Given the description of an element on the screen output the (x, y) to click on. 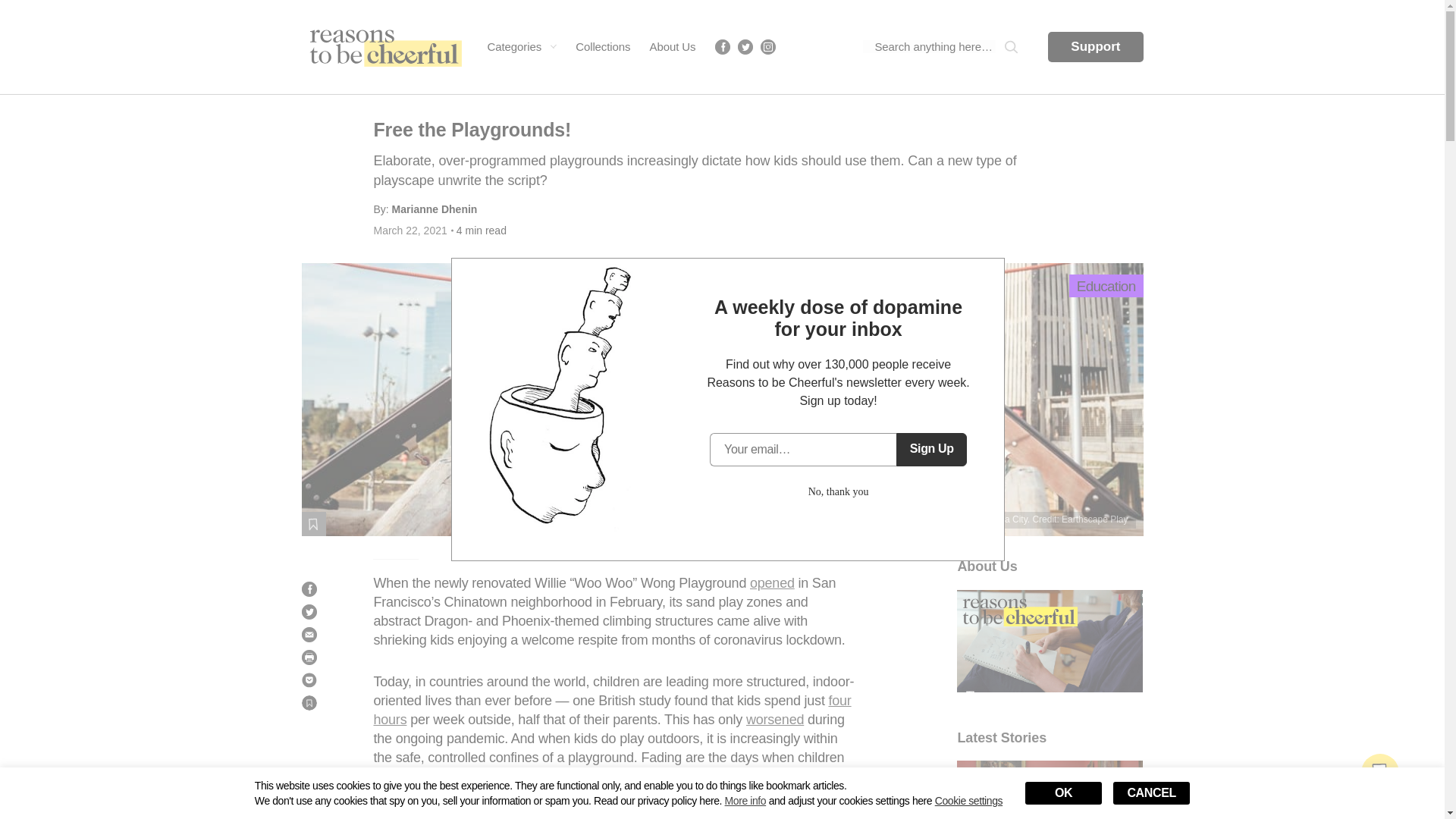
Posts by Marianne Dhenin (434, 209)
Sign Up (931, 449)
Share with twitter link (309, 611)
Collections (602, 46)
worsened (774, 719)
Marianne Dhenin (434, 209)
opened (771, 582)
About Us (672, 46)
four hours (611, 709)
Share with facebook link (309, 589)
Education (1105, 285)
Categories (521, 46)
